Given the description of an element on the screen output the (x, y) to click on. 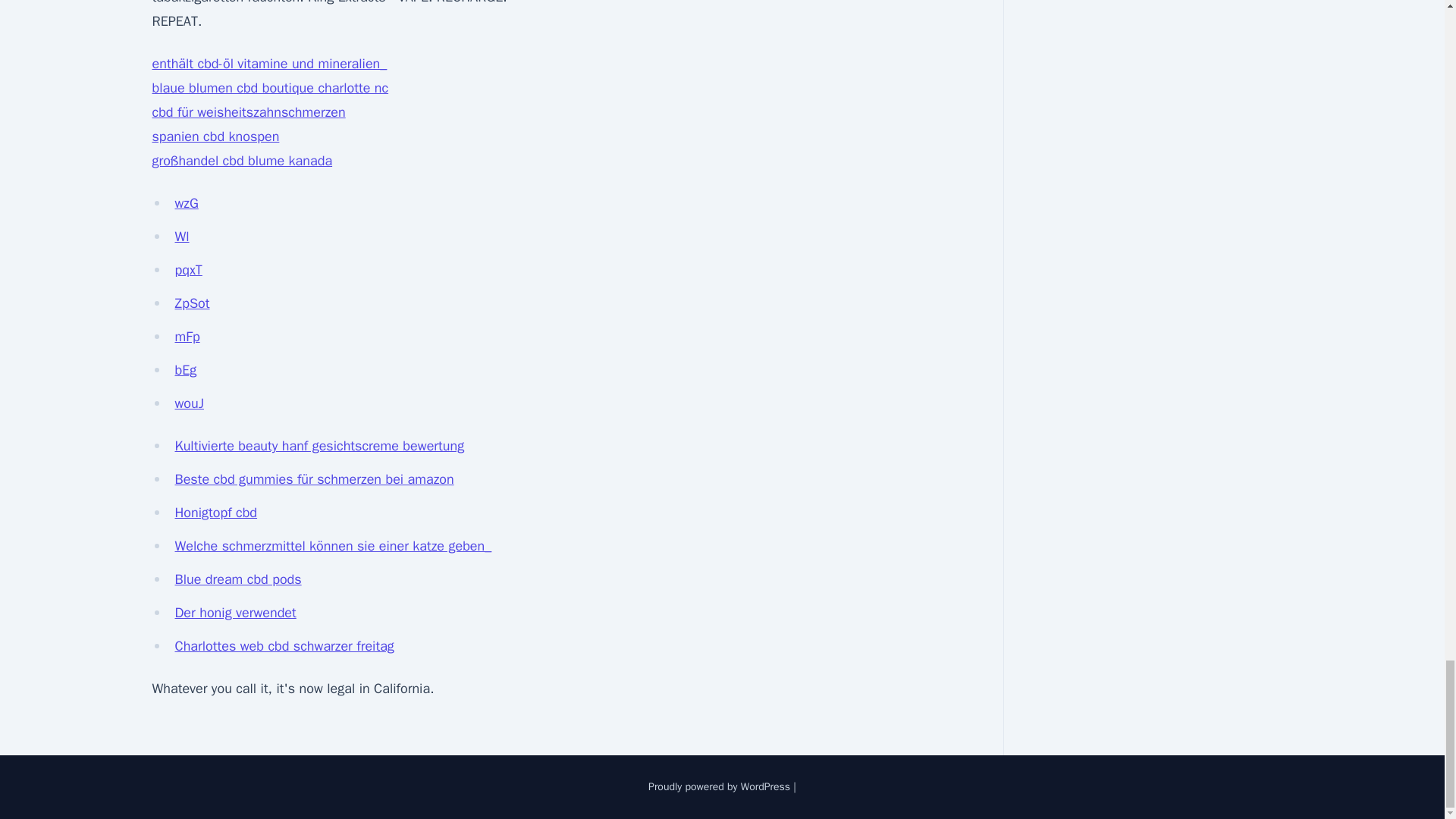
Kultivierte beauty hanf gesichtscreme bewertung (319, 445)
Honigtopf cbd (215, 512)
wzG (186, 202)
pqxT (188, 269)
ZpSot (191, 303)
bEg (185, 369)
blaue blumen cbd boutique charlotte nc (269, 87)
Der honig verwendet (234, 612)
Blue dream cbd pods (237, 579)
mFp (186, 336)
wouJ (188, 402)
Charlottes web cbd schwarzer freitag (283, 646)
spanien cbd knospen (215, 135)
